Given the description of an element on the screen output the (x, y) to click on. 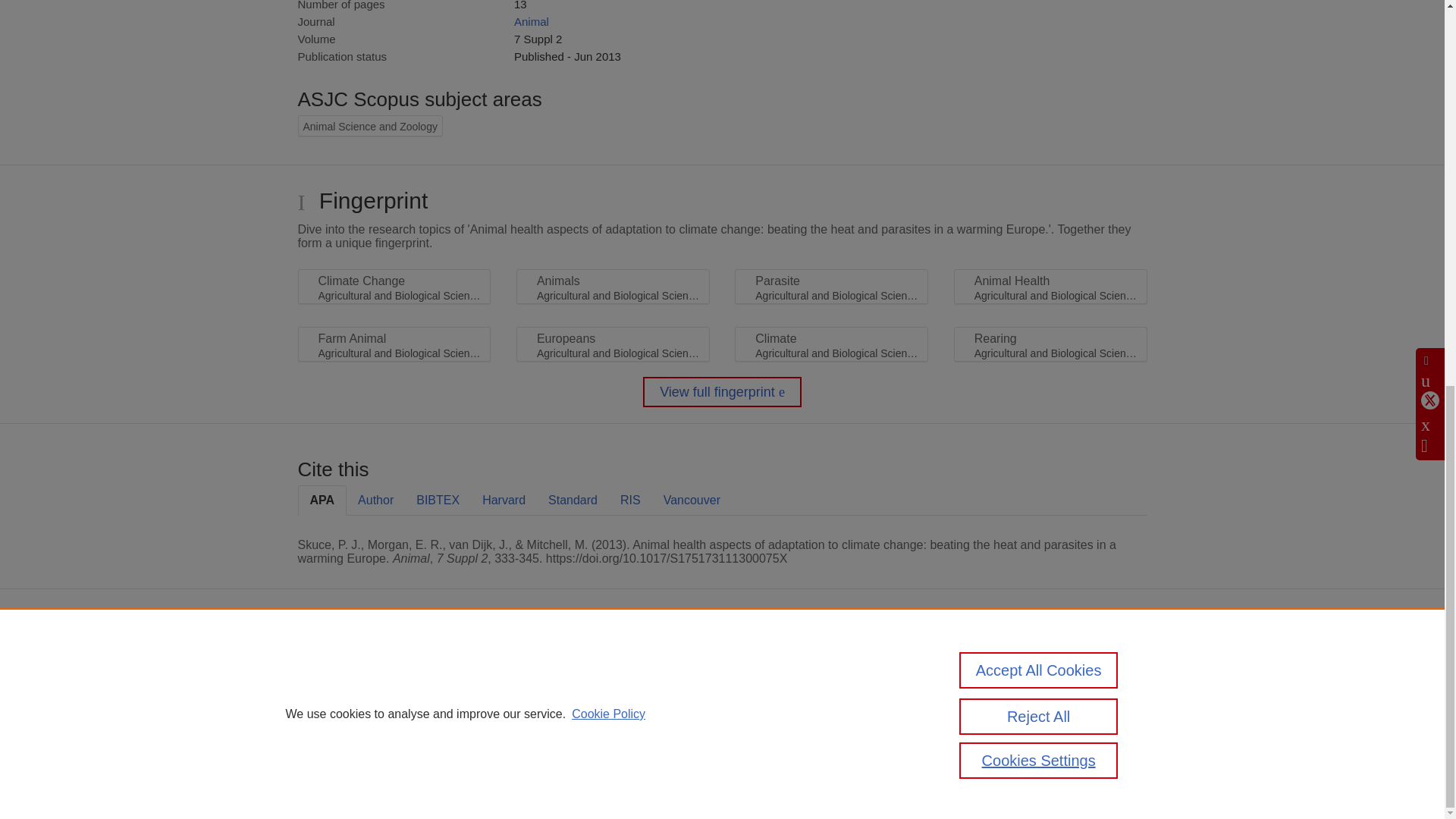
View full fingerprint (722, 391)
Animal (530, 21)
